Given the description of an element on the screen output the (x, y) to click on. 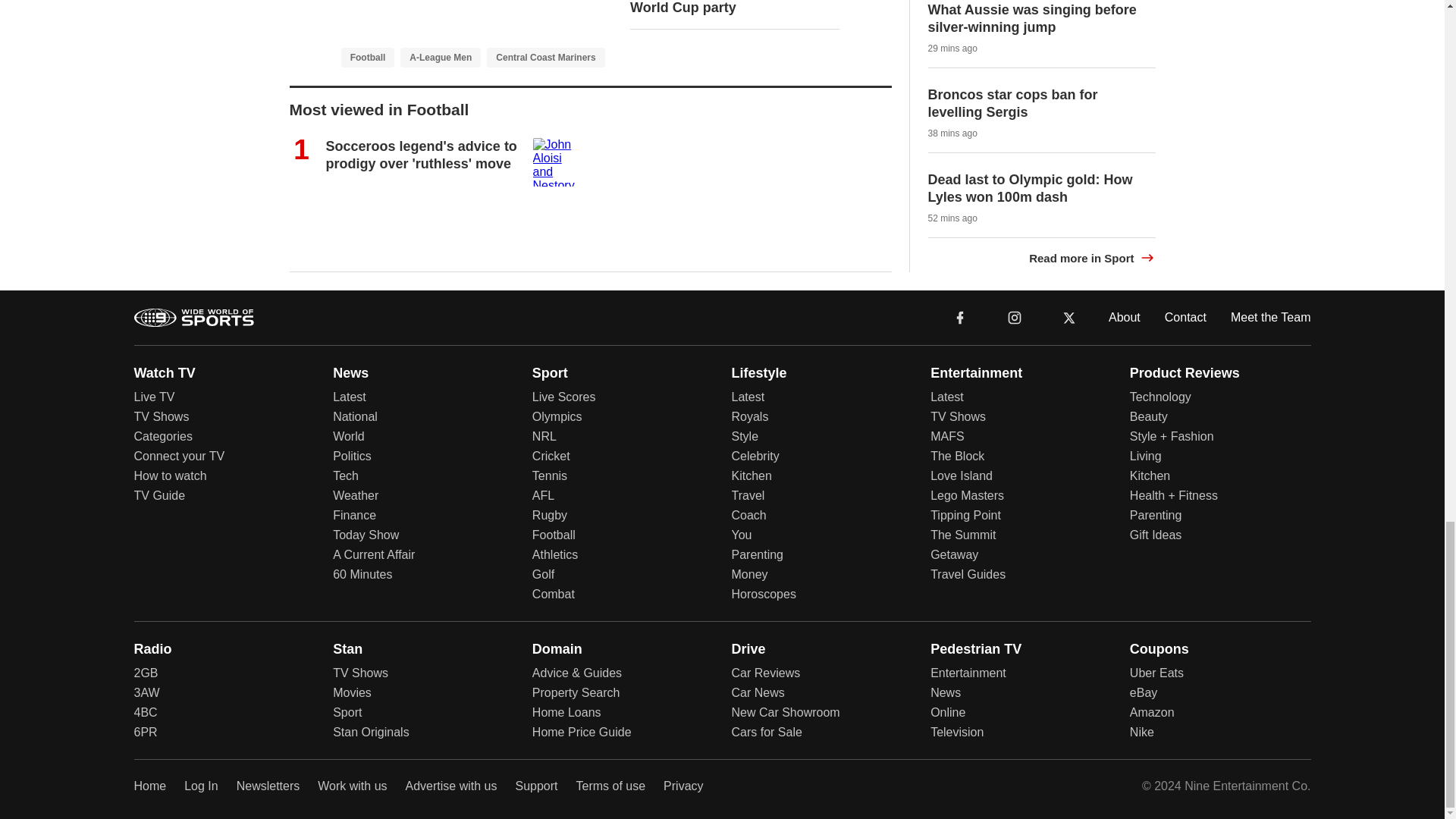
A-League Men (440, 56)
x (1069, 317)
Central Coast Mariners (545, 56)
Amazing images capture size of World Cup party (733, 7)
facebook (960, 317)
Football (367, 56)
Socceroos legend's advice to prodigy over 'ruthless' move (421, 154)
x (1069, 316)
instagram (1014, 317)
facebook (959, 316)
